Given the description of an element on the screen output the (x, y) to click on. 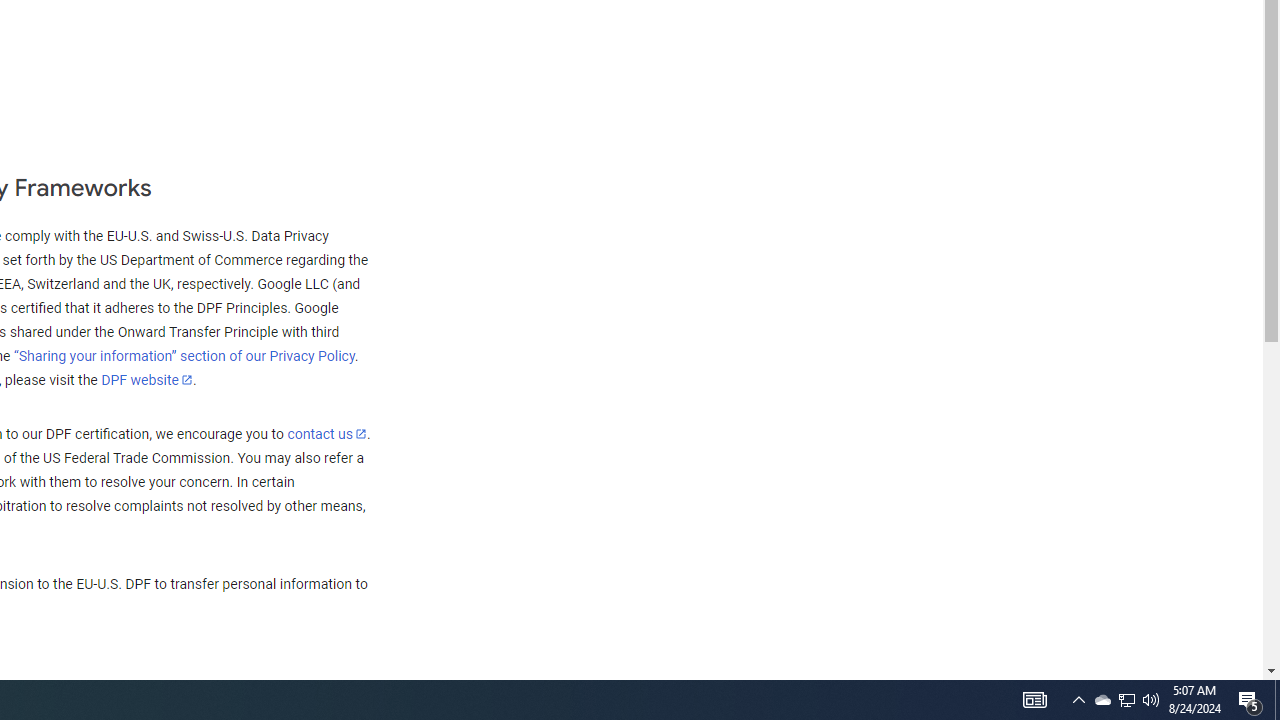
contact us (326, 433)
DPF website (147, 379)
